Given the description of an element on the screen output the (x, y) to click on. 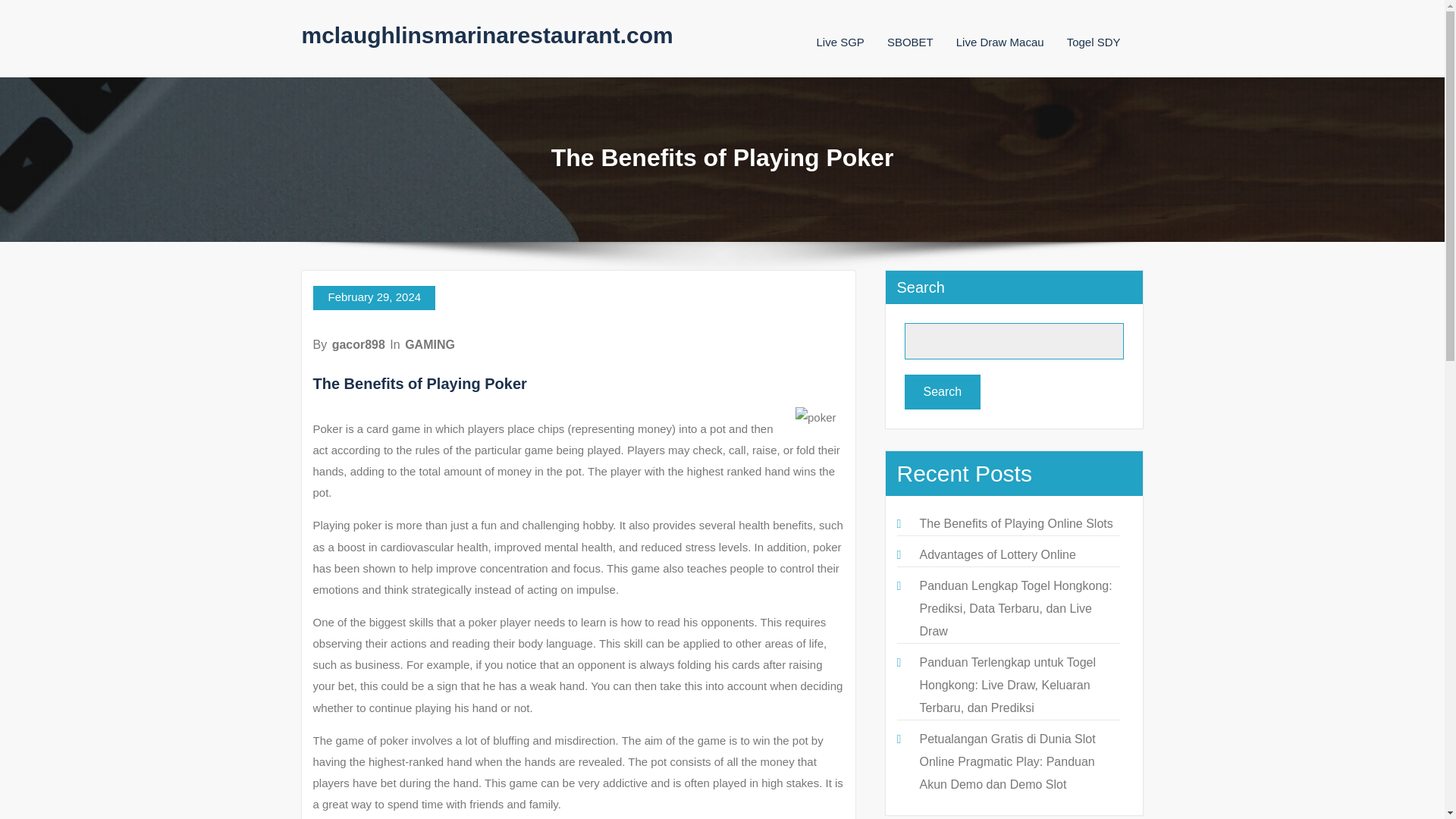
mclaughlinsmarinarestaurant.com (486, 34)
Live Draw Macau (999, 41)
gacor898 (358, 344)
Search (941, 391)
SBOBET (909, 41)
Live SGP (839, 41)
GAMING (430, 344)
Togel SDY (1094, 41)
The Benefits of Playing Online Slots (1015, 522)
February 29, 2024 (374, 297)
Advantages of Lottery Online (996, 554)
